Given the description of an element on the screen output the (x, y) to click on. 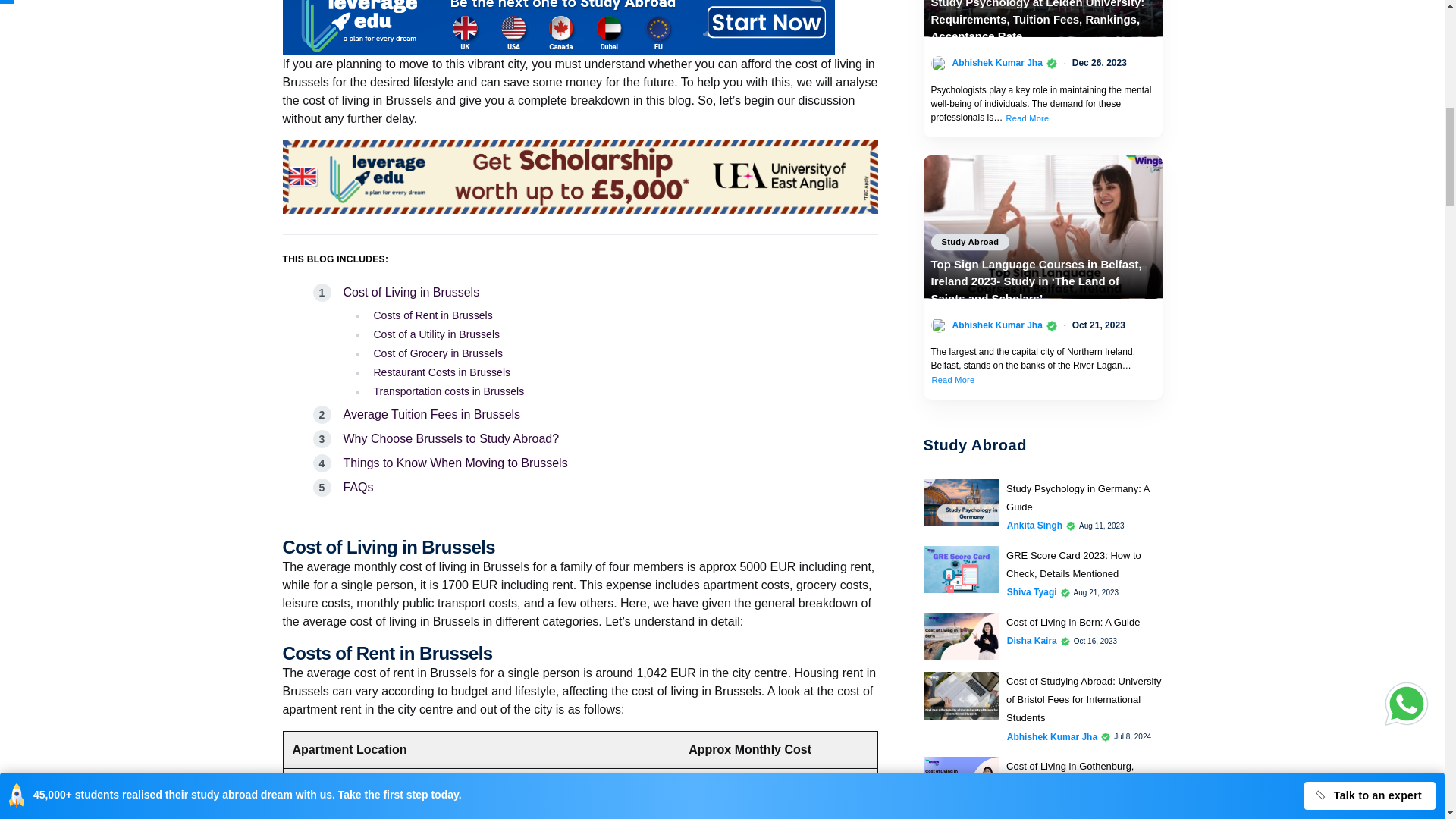
View all posts by Vidisha Dewan (1038, 802)
View all posts by Shiva Tyagi (1032, 591)
View all posts by Ankita Singh (1034, 525)
View all posts by Abhishek Kumar Jha (997, 325)
View all posts by Abhishek Kumar Jha (1052, 735)
View all posts by Abhishek Kumar Jha (997, 62)
View all posts by Disha Kaira (1032, 640)
